Given the description of an element on the screen output the (x, y) to click on. 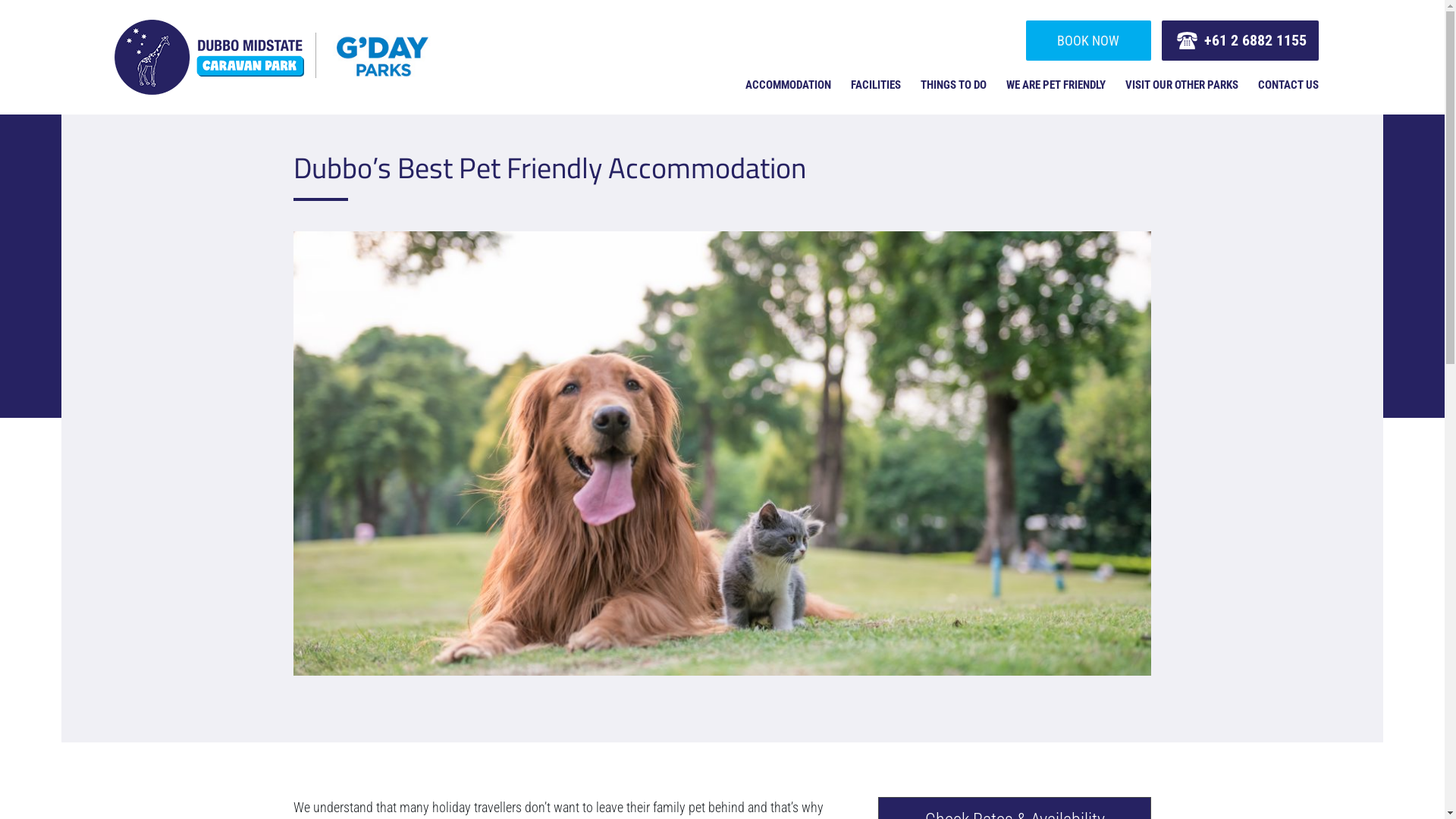
CONTACT US Element type: text (1288, 84)
FACILITIES Element type: text (875, 84)
ACCOMMODATION Element type: text (788, 84)
+61 2 6882 1155 Element type: text (1239, 40)
THINGS TO DO Element type: text (953, 84)
BOOK NOW Element type: text (1088, 40)
WE ARE PET FRIENDLY Element type: text (1055, 84)
VISIT OUR OTHER PARKS Element type: text (1181, 84)
